Given the description of an element on the screen output the (x, y) to click on. 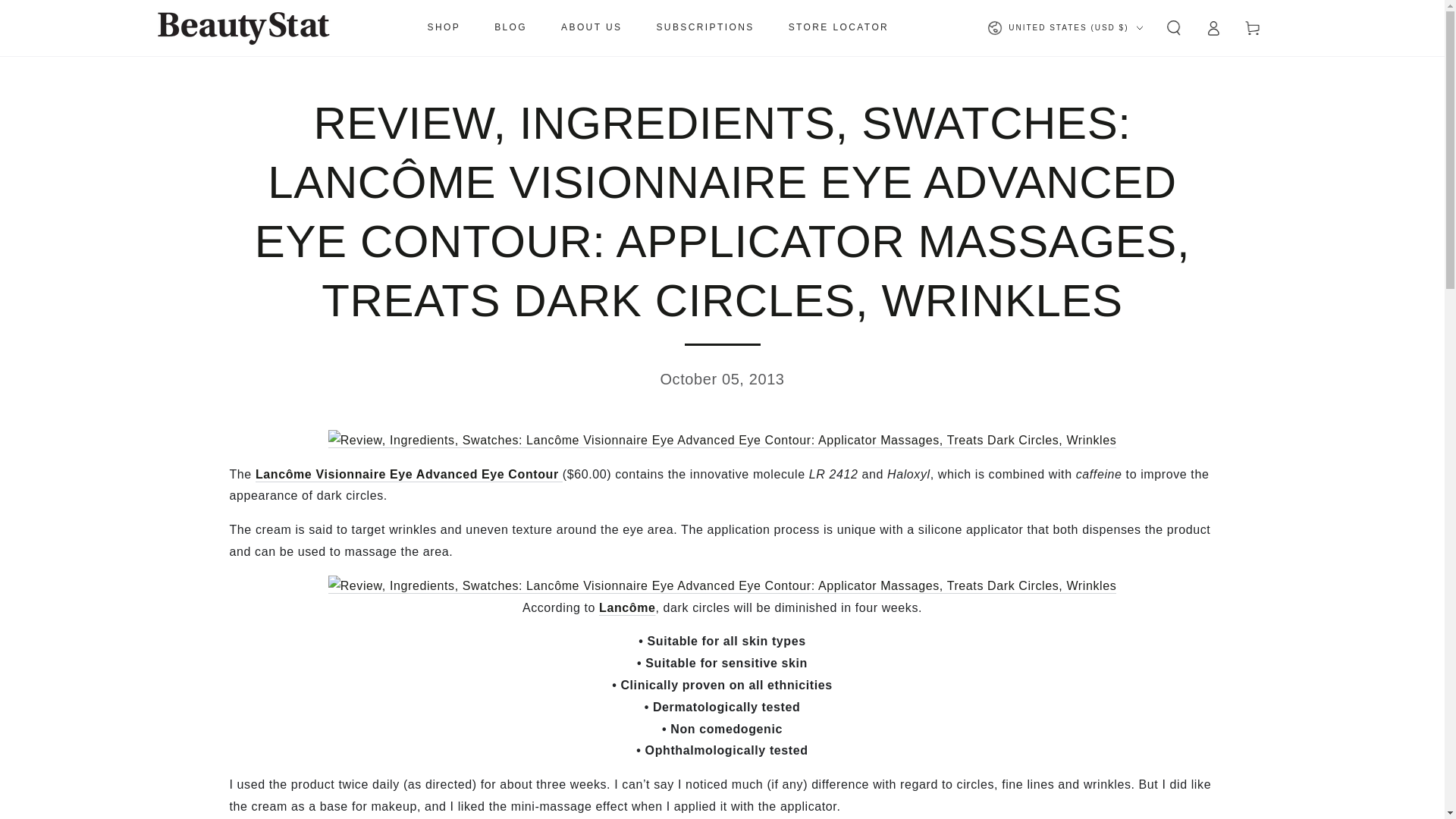
SKIP TO CONTENT (67, 14)
SHOP (443, 27)
